Given the description of an element on the screen output the (x, y) to click on. 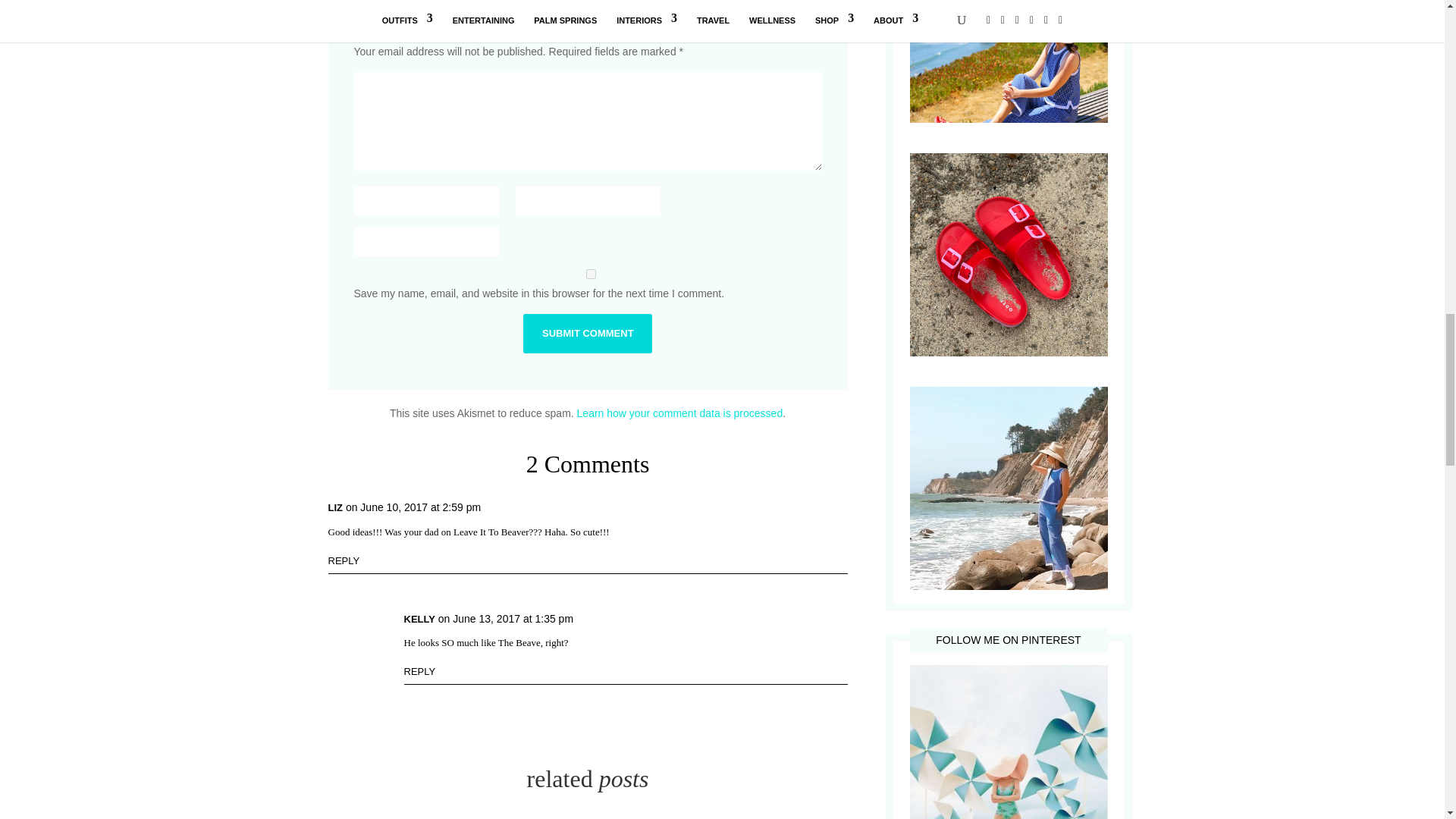
Submit Comment (587, 332)
yes (590, 274)
